Given the description of an element on the screen output the (x, y) to click on. 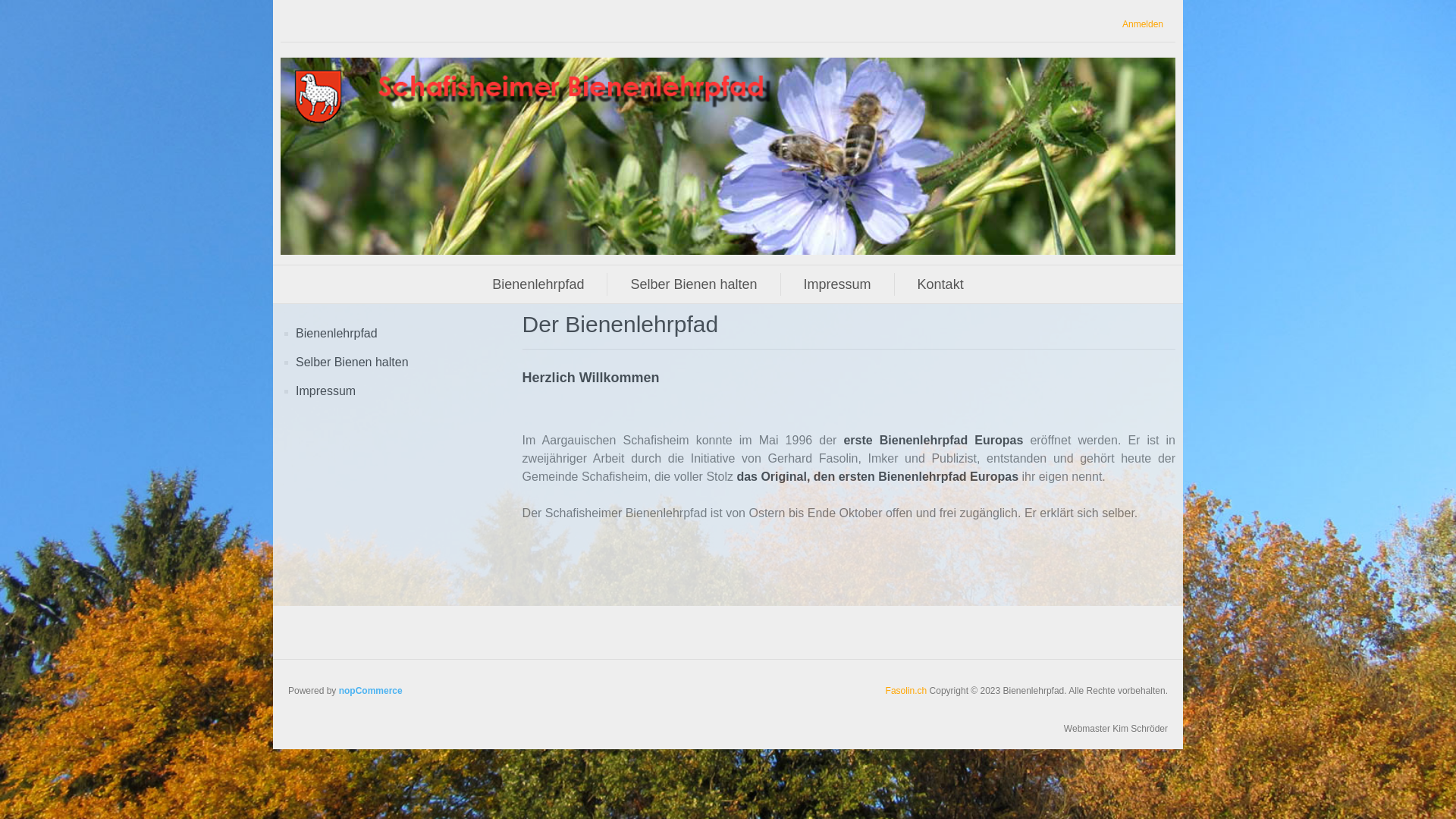
Selber Bienen halten Element type: text (351, 362)
Bienenlehrpfad Element type: text (537, 284)
Impressum Element type: text (837, 284)
Fasolin.ch  Element type: text (907, 690)
Bienenlehrpfad Element type: text (336, 333)
Kontakt Element type: text (940, 284)
nopCommerce Element type: text (370, 690)
Anmelden Element type: text (1142, 24)
Selber Bienen halten Element type: text (693, 284)
Impressum Element type: text (325, 390)
